Given the description of an element on the screen output the (x, y) to click on. 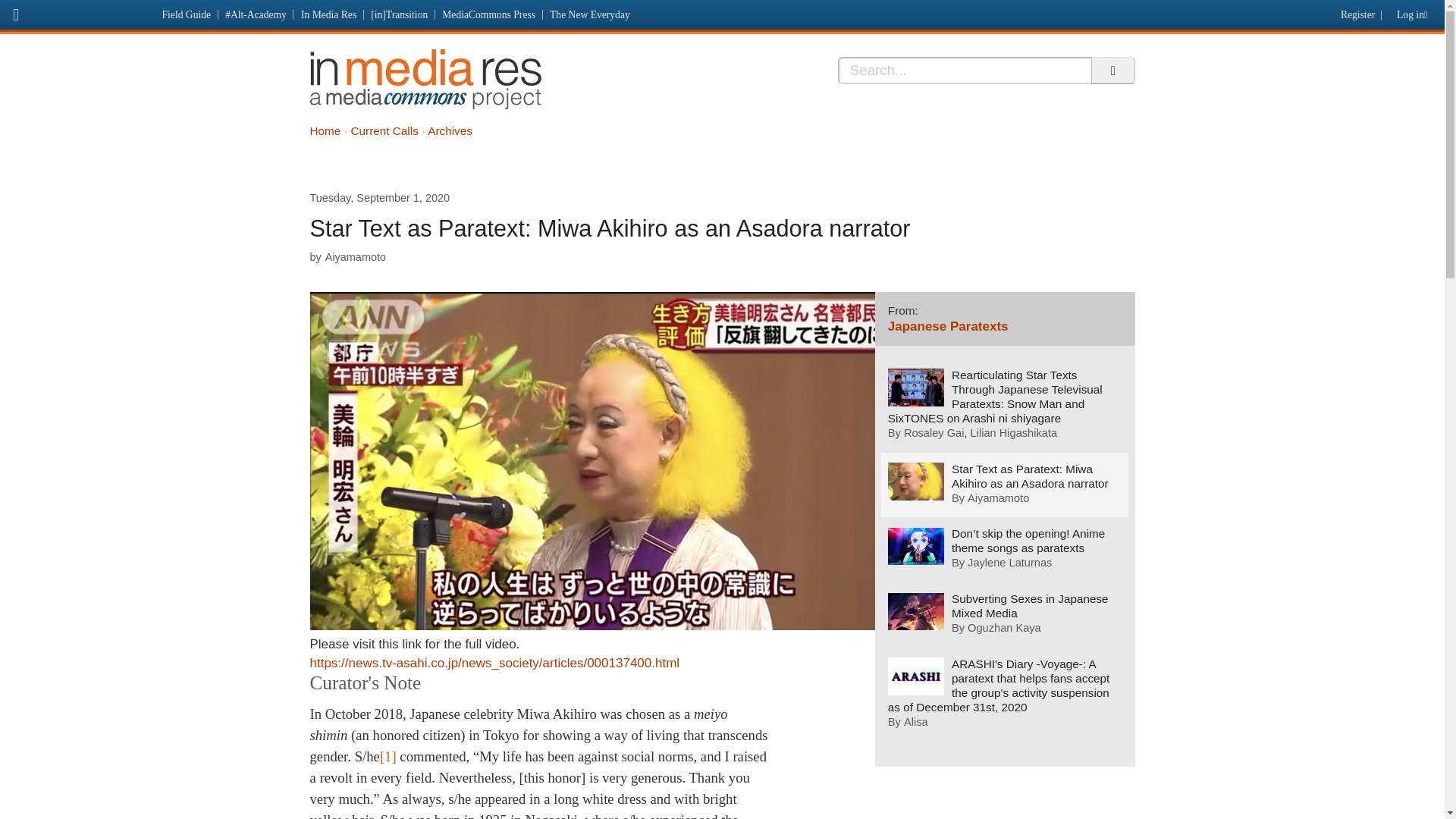
Current Calls (384, 130)
Field Guide (186, 14)
Archives (449, 130)
Register (1355, 11)
Rosaley Gai (933, 433)
Home (324, 130)
Lilian Higashikata (1014, 433)
Japanese Paratexts (948, 326)
In Media Res (424, 79)
The New Everyday (590, 14)
Aiyamamoto (998, 498)
In Media Res (328, 14)
Front page (77, 11)
Log in (1414, 11)
